Given the description of an element on the screen output the (x, y) to click on. 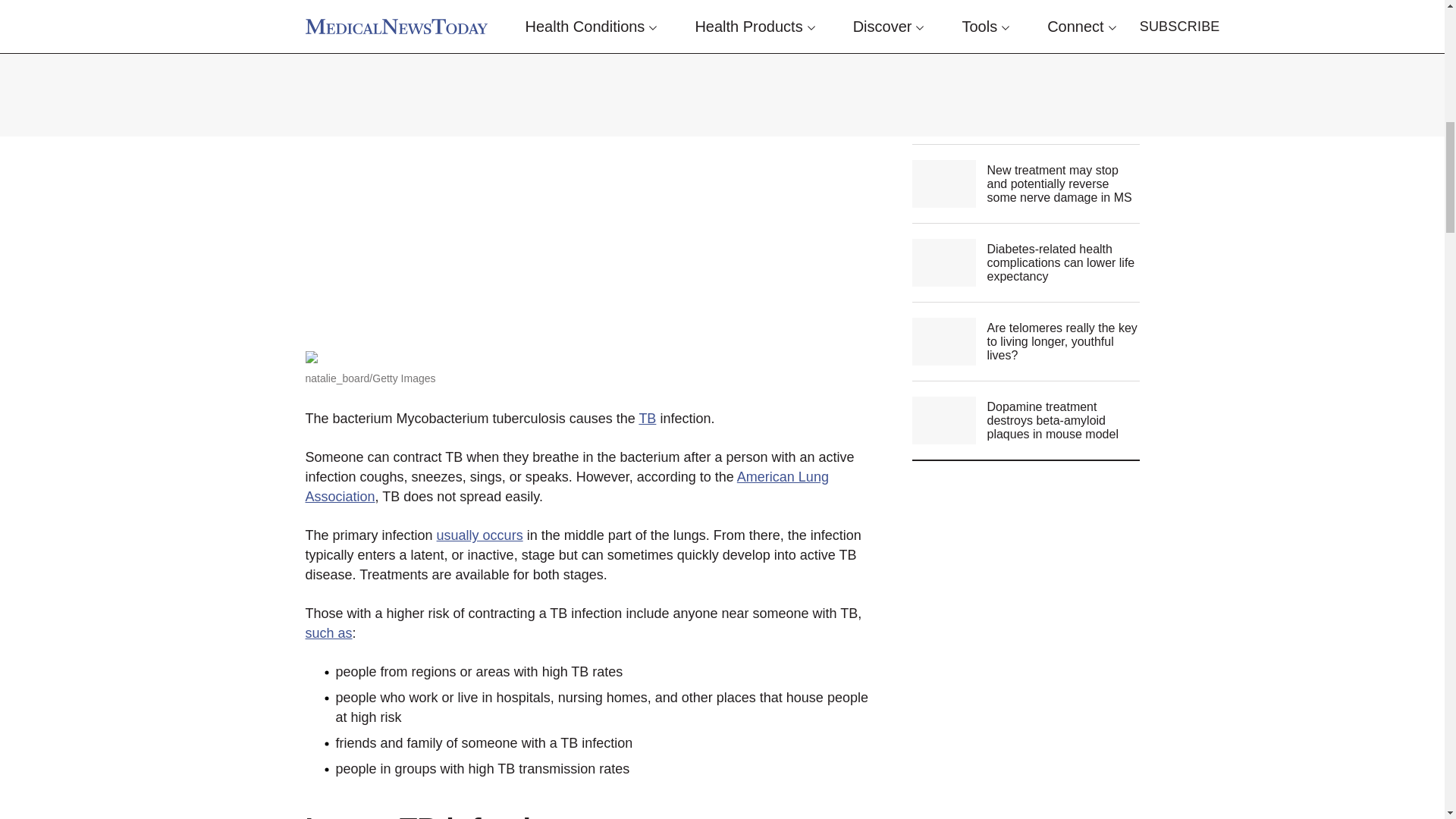
TB (647, 418)
Latent TB infection (435, 816)
Primary infection (422, 10)
American Lung Association (566, 486)
usually occurs (479, 534)
such as (328, 632)
